Given the description of an element on the screen output the (x, y) to click on. 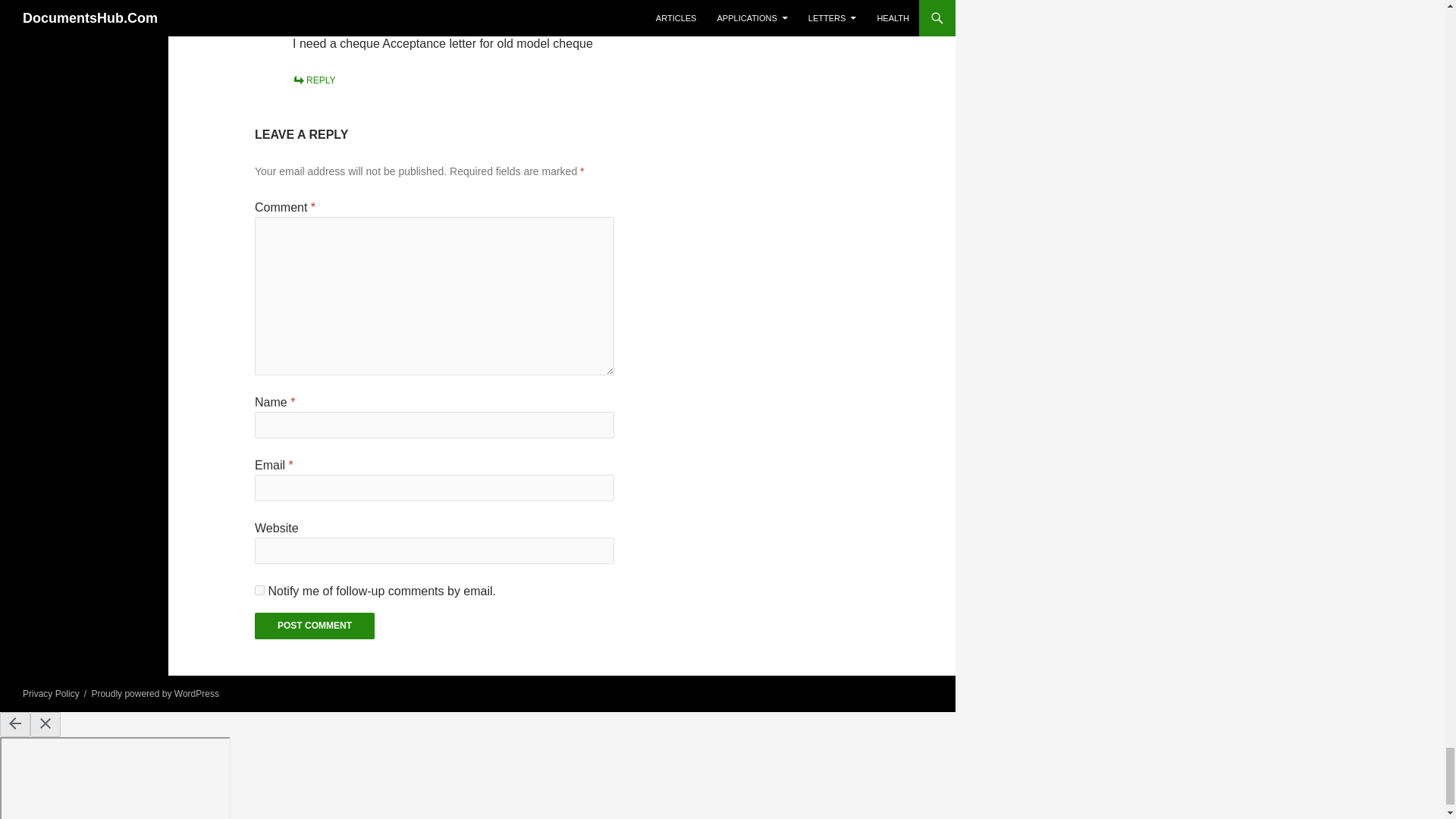
Post Comment (314, 625)
subscribe (259, 590)
